Given the description of an element on the screen output the (x, y) to click on. 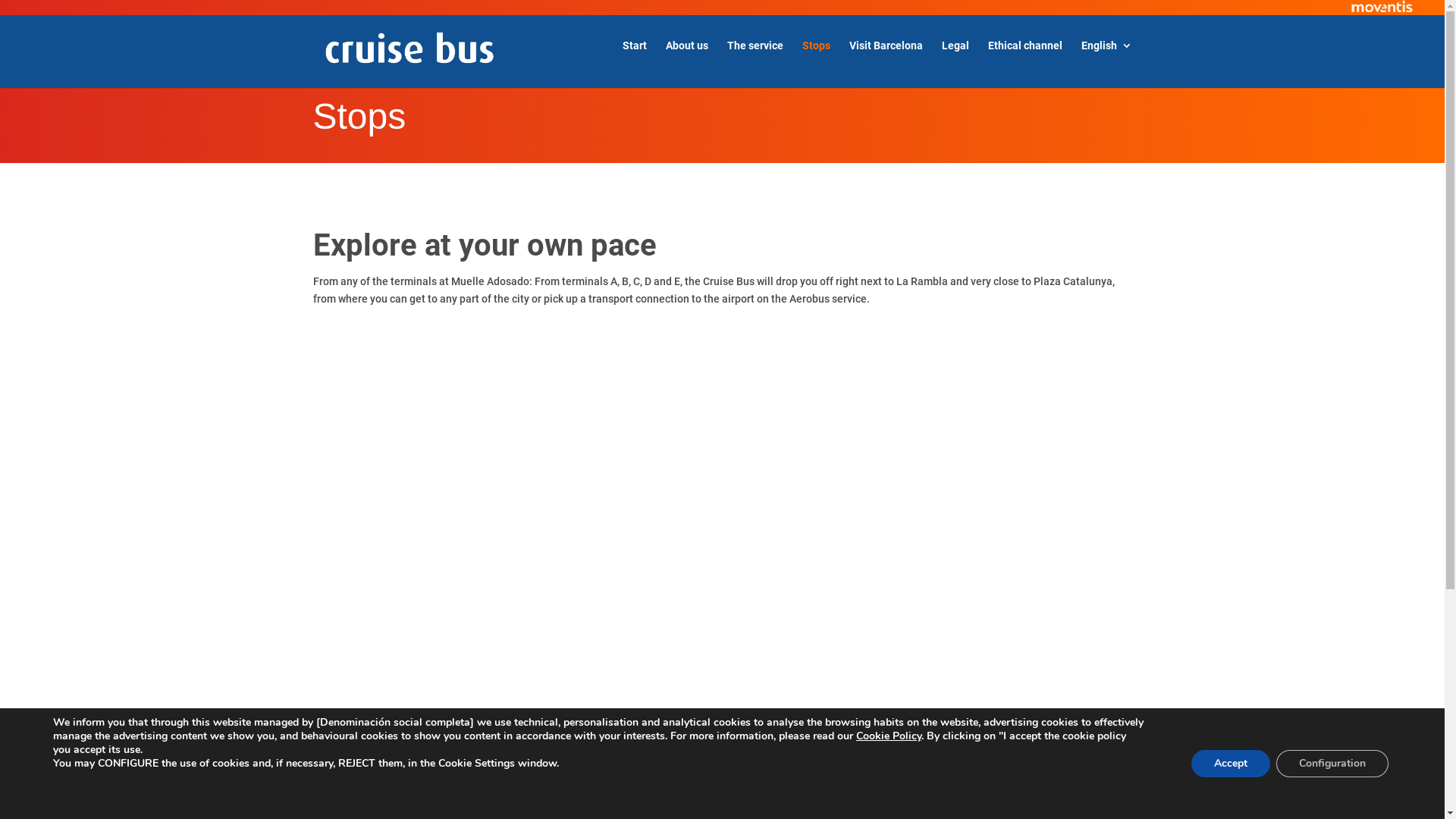
Legal Element type: text (955, 57)
English Element type: text (1106, 57)
Configuration Element type: text (1332, 763)
Ethical channel Element type: text (1024, 57)
Stops Element type: text (816, 57)
Visit Barcelona Element type: text (885, 57)
Accept Element type: text (1230, 763)
Start Element type: text (633, 57)
About us Element type: text (686, 57)
Cookie Policy Element type: text (888, 735)
The service Element type: text (754, 57)
